Given the description of an element on the screen output the (x, y) to click on. 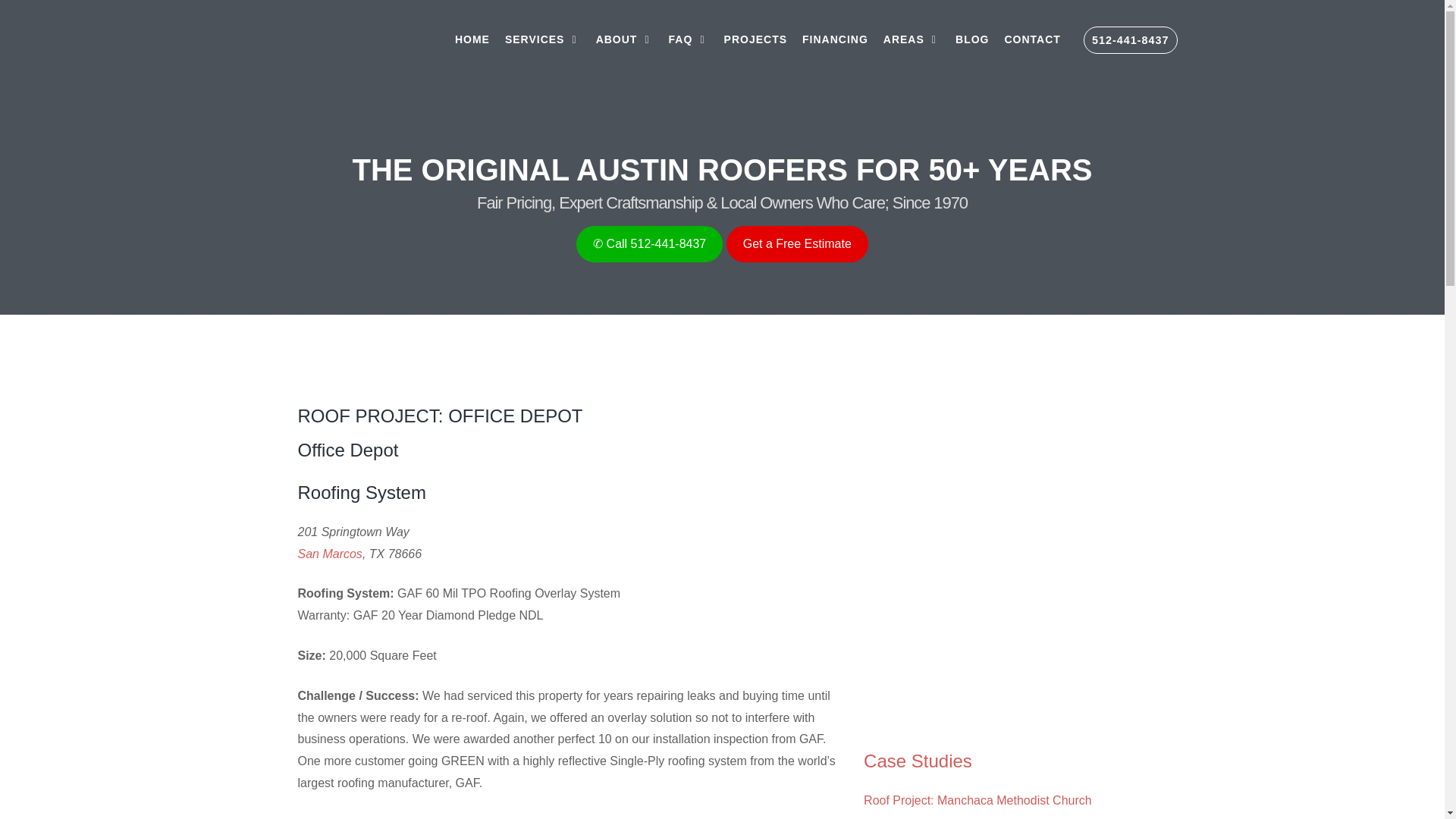
ABOUT (624, 39)
FAQ (688, 39)
HOME (471, 39)
PROJECTS (755, 39)
AREAS (911, 39)
SERVICES (542, 39)
